Given the description of an element on the screen output the (x, y) to click on. 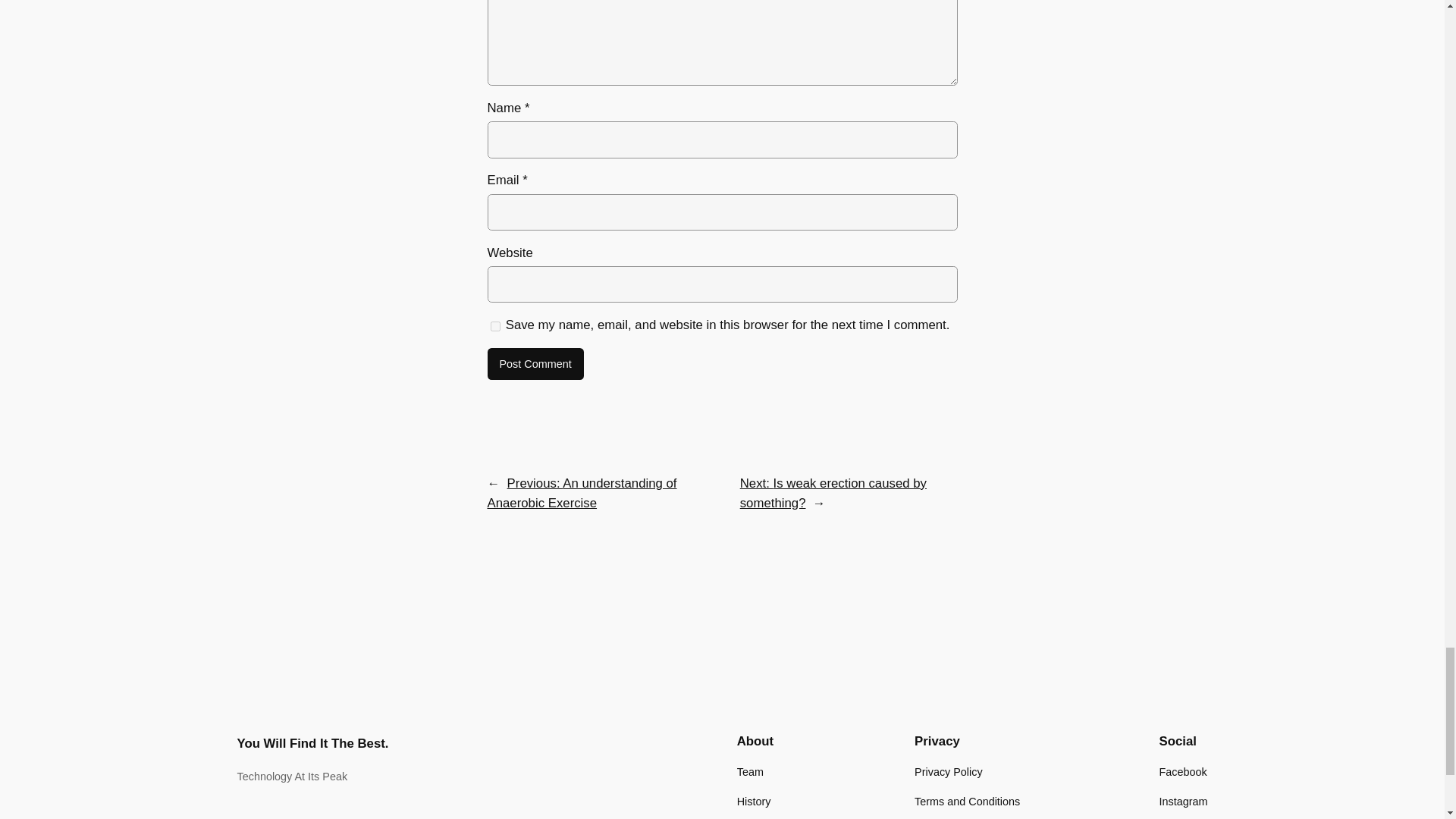
Post Comment (534, 364)
History (753, 801)
Previous: An understanding of Anaerobic Exercise (581, 492)
Privacy Policy (948, 771)
Terms and Conditions (967, 801)
Next: Is weak erection caused by something? (832, 492)
Post Comment (534, 364)
Instagram (1182, 801)
Team (749, 771)
You Will Find It The Best. (311, 743)
Facebook (1182, 771)
